Given the description of an element on the screen output the (x, y) to click on. 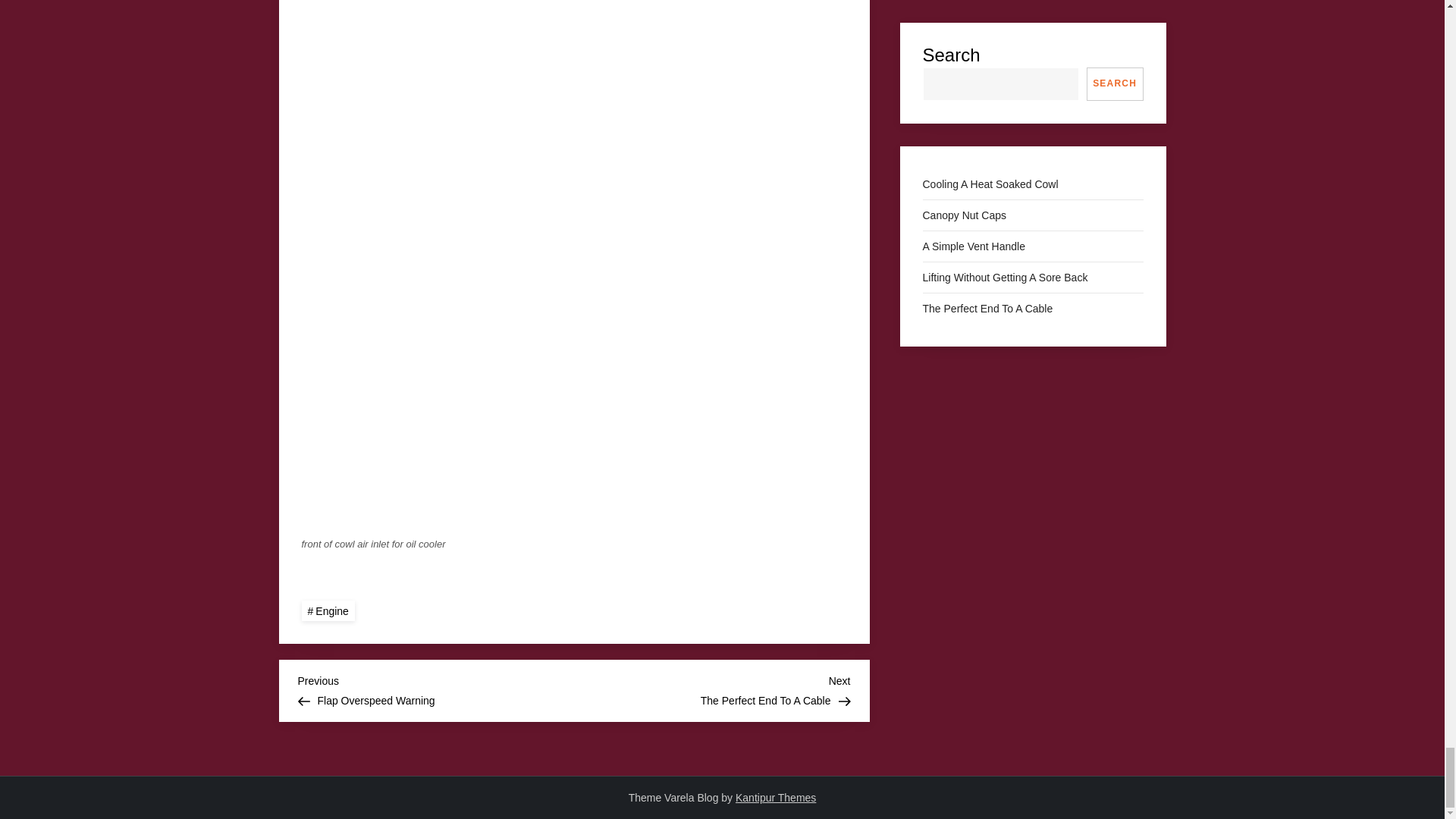
Engine (328, 610)
Kantipur Themes (711, 688)
